Given the description of an element on the screen output the (x, y) to click on. 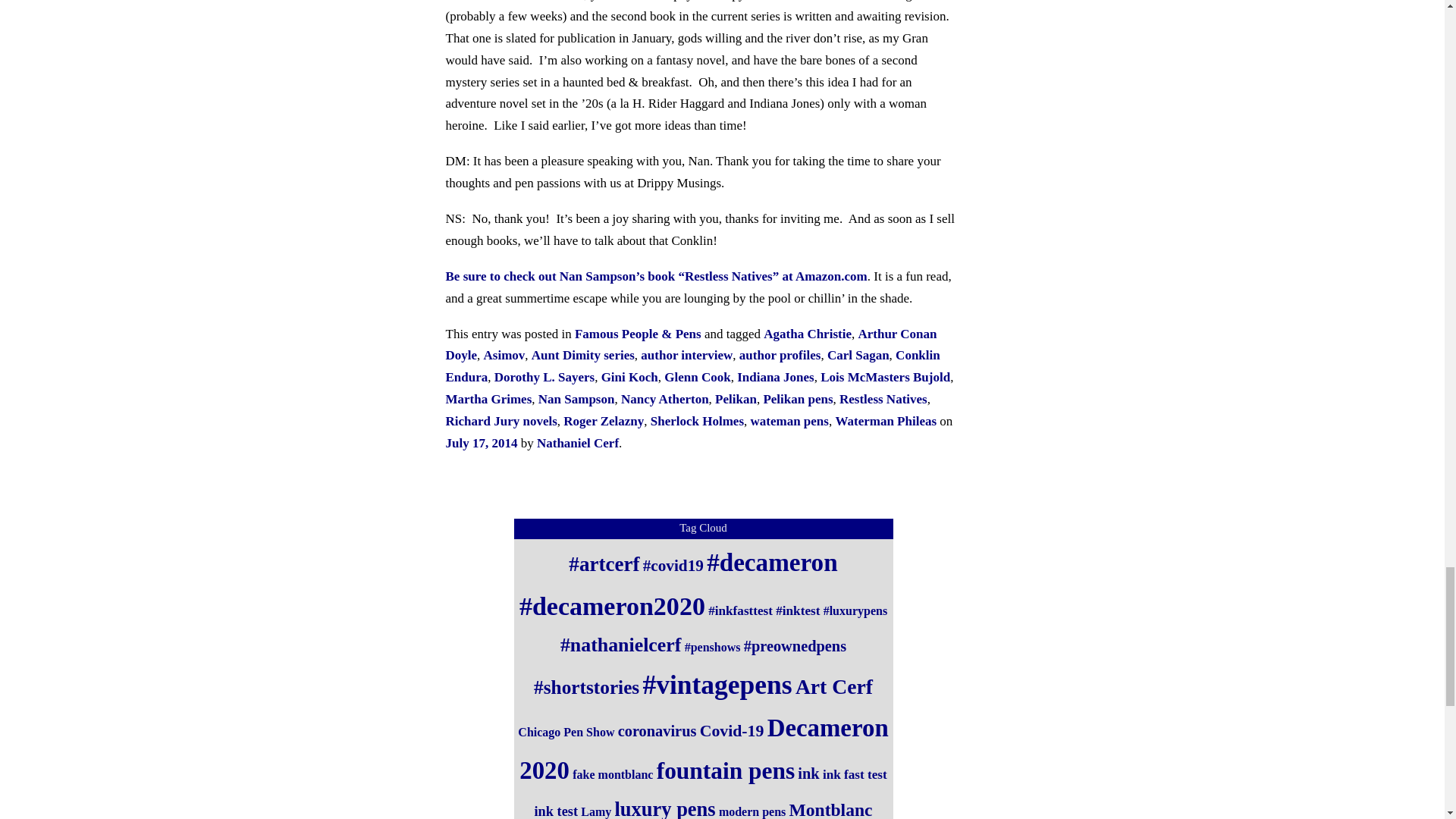
10:46 am (481, 442)
View all posts by Nathaniel Cerf (577, 442)
Click here to see Nan Sampson's book "Restless Natives." (656, 276)
